Given the description of an element on the screen output the (x, y) to click on. 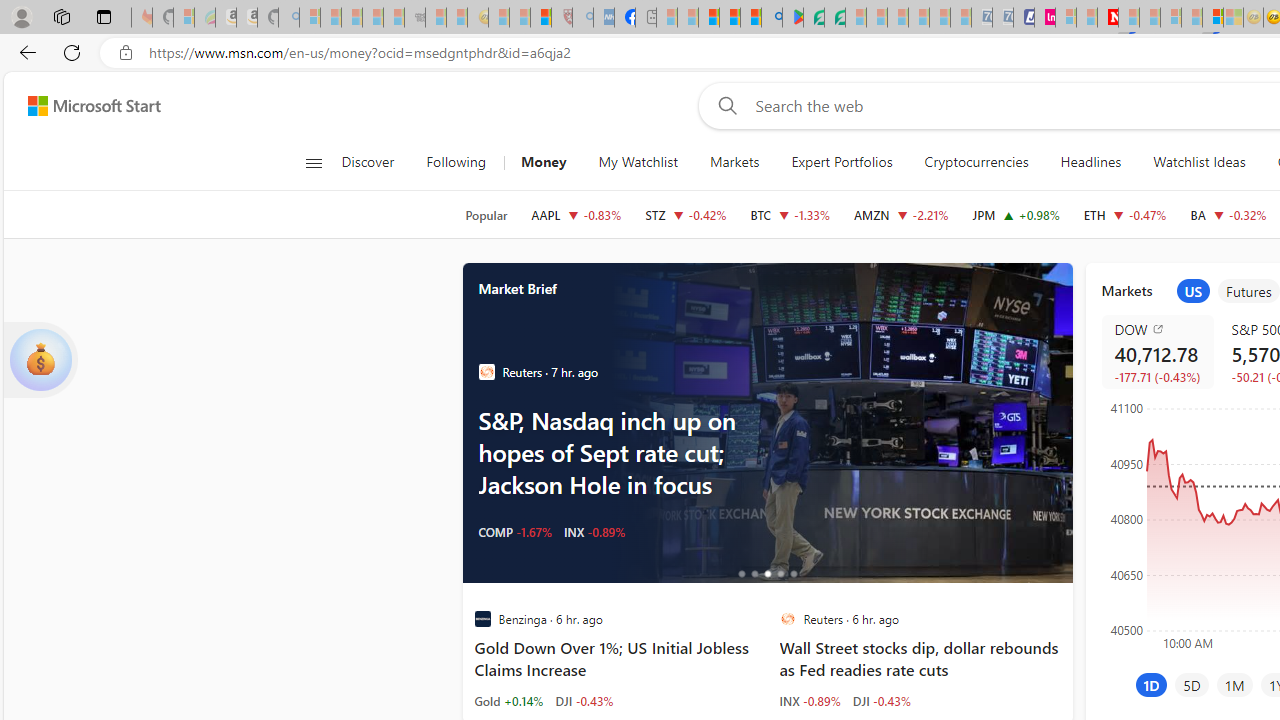
MarketWatch (486, 372)
My Watchlist (637, 162)
Oil edges higher after back-to-back weekly gains (838, 422)
The Weather Channel - MSN - Sleeping (351, 17)
My Watchlist (637, 162)
Local - MSN (541, 17)
show card (40, 359)
AAPL APPLE INC. decrease 224.53 -1.87 -0.83% (575, 214)
1M (1234, 684)
